Given the description of an element on the screen output the (x, y) to click on. 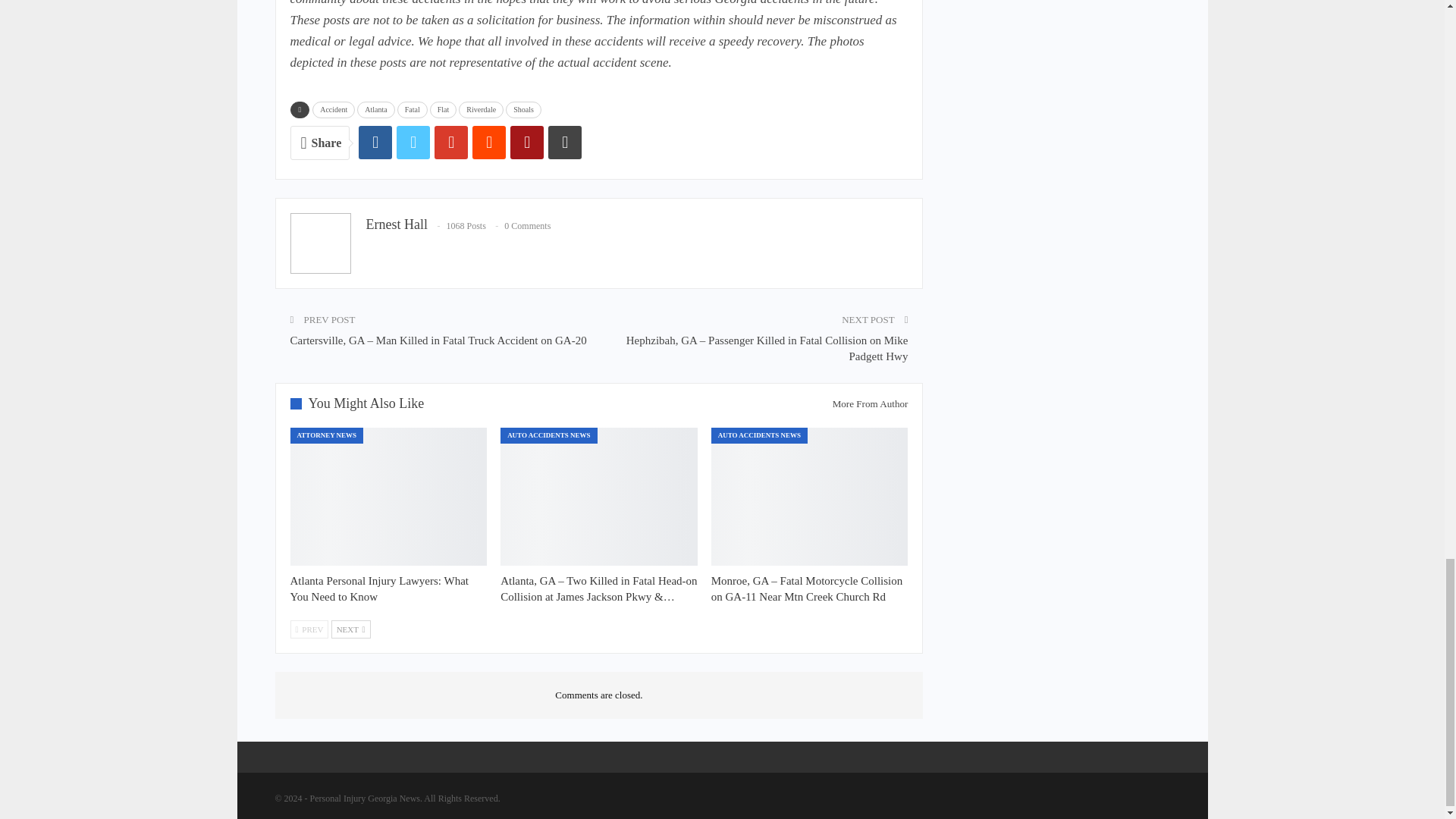
Next (351, 628)
Accident (334, 109)
Atlanta Personal Injury Lawyers: What You Need to Know (378, 588)
Atlanta Personal Injury Lawyers: What You Need to Know (387, 496)
Fatal (412, 109)
Atlanta (375, 109)
Previous (309, 628)
